Given the description of an element on the screen output the (x, y) to click on. 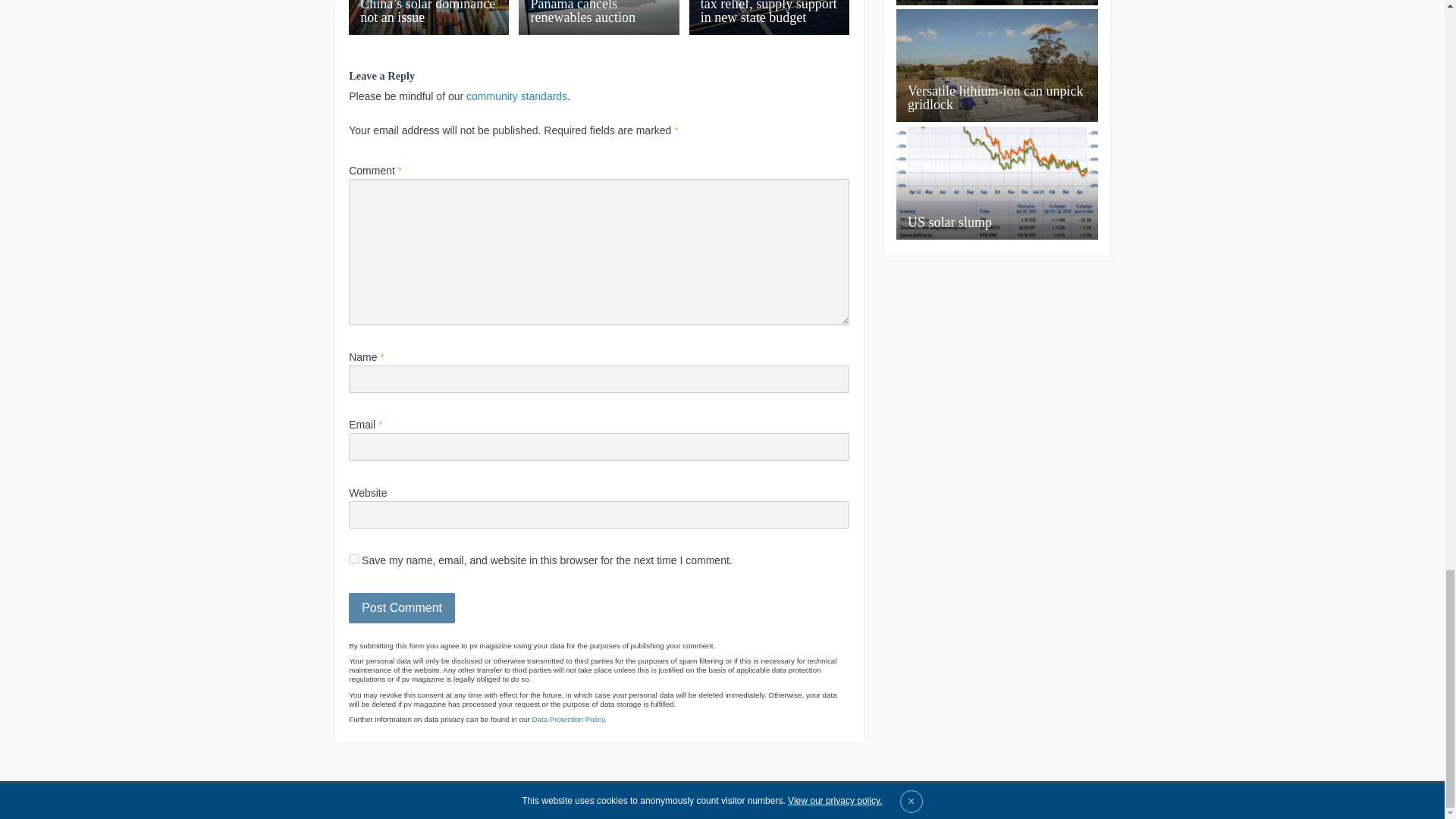
yes (353, 559)
Post Comment (401, 607)
